Given the description of an element on the screen output the (x, y) to click on. 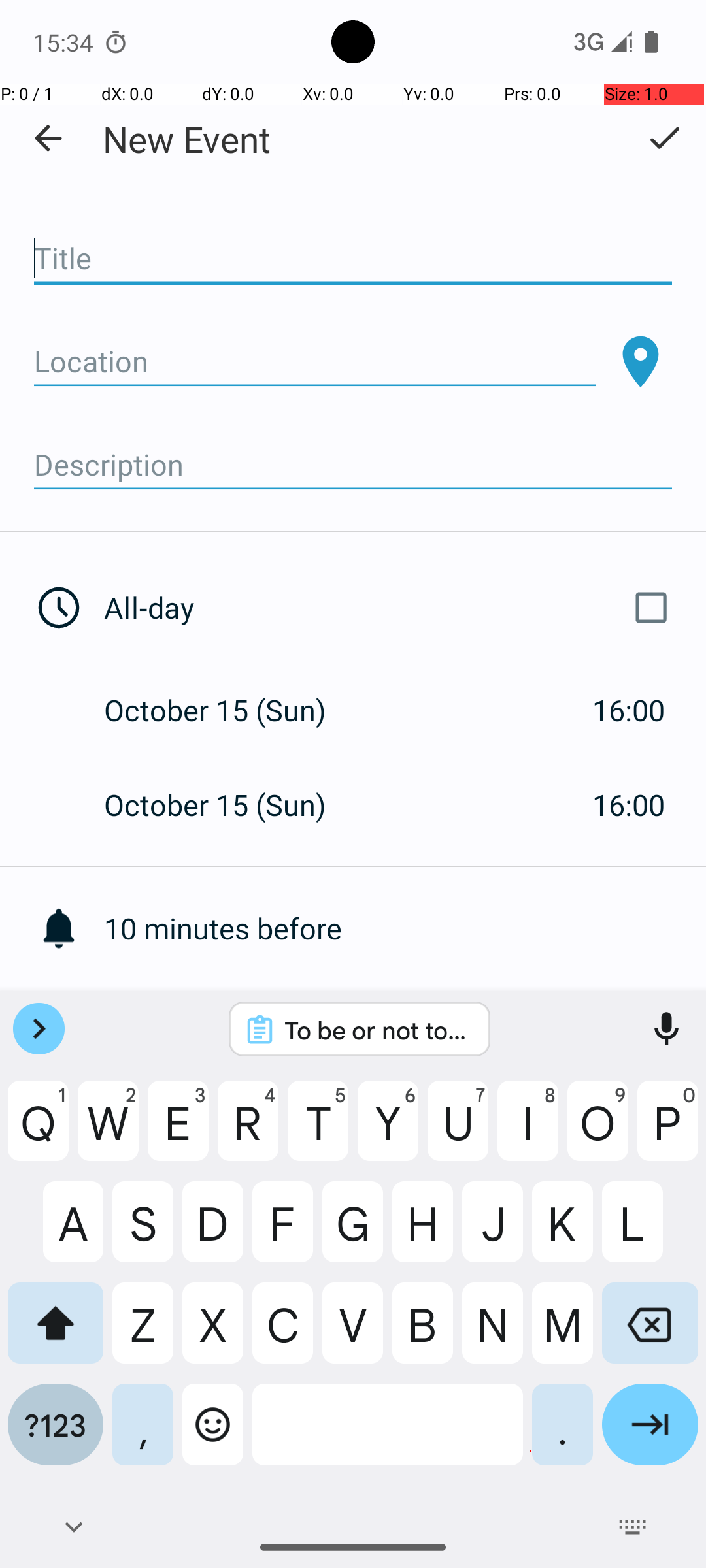
To be or not to be. Element type: android.widget.TextView (376, 1029)
